Given the description of an element on the screen output the (x, y) to click on. 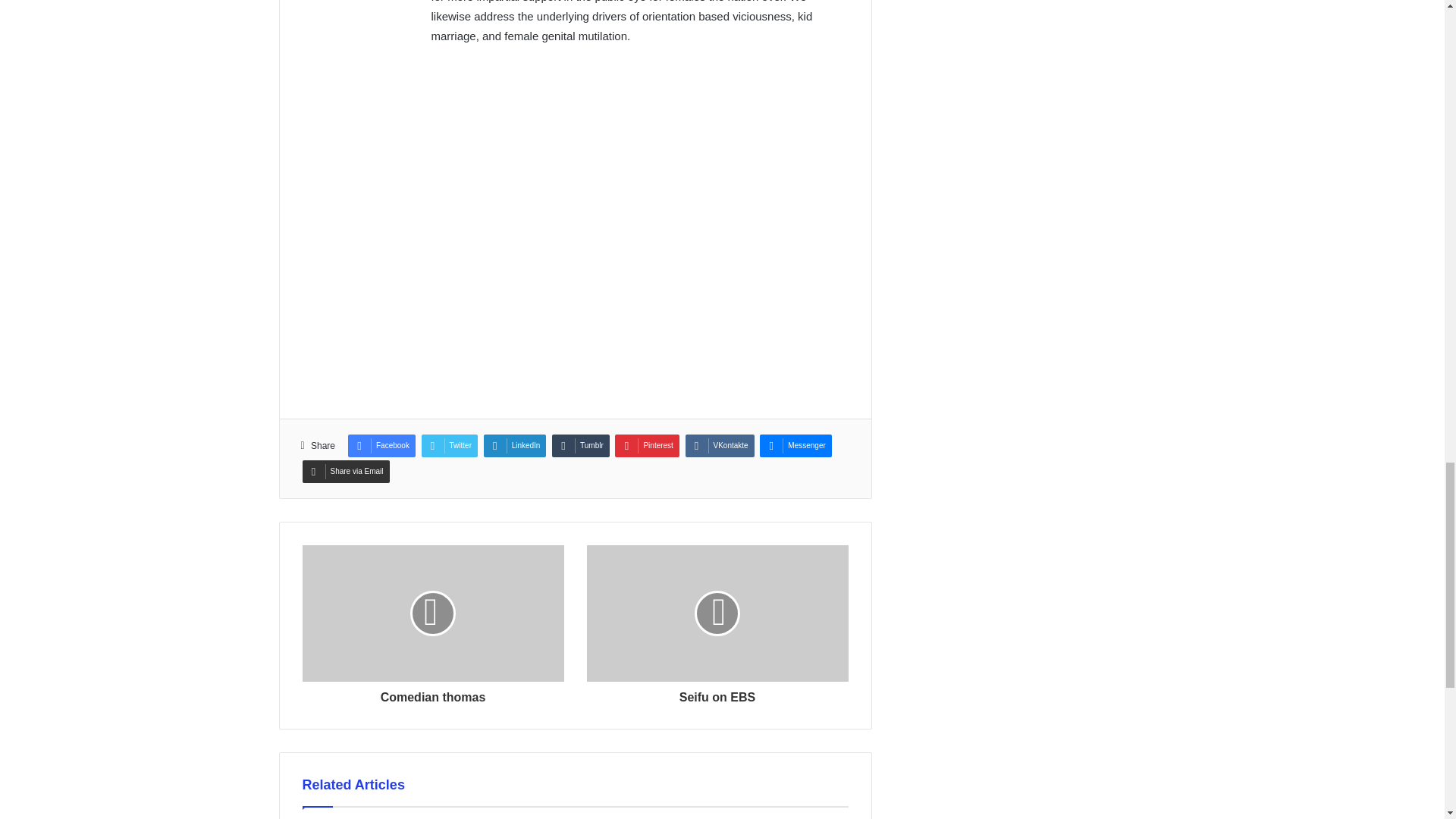
Facebook (380, 445)
LinkedIn (515, 445)
Twitter (449, 445)
Tumblr (580, 445)
